Given the description of an element on the screen output the (x, y) to click on. 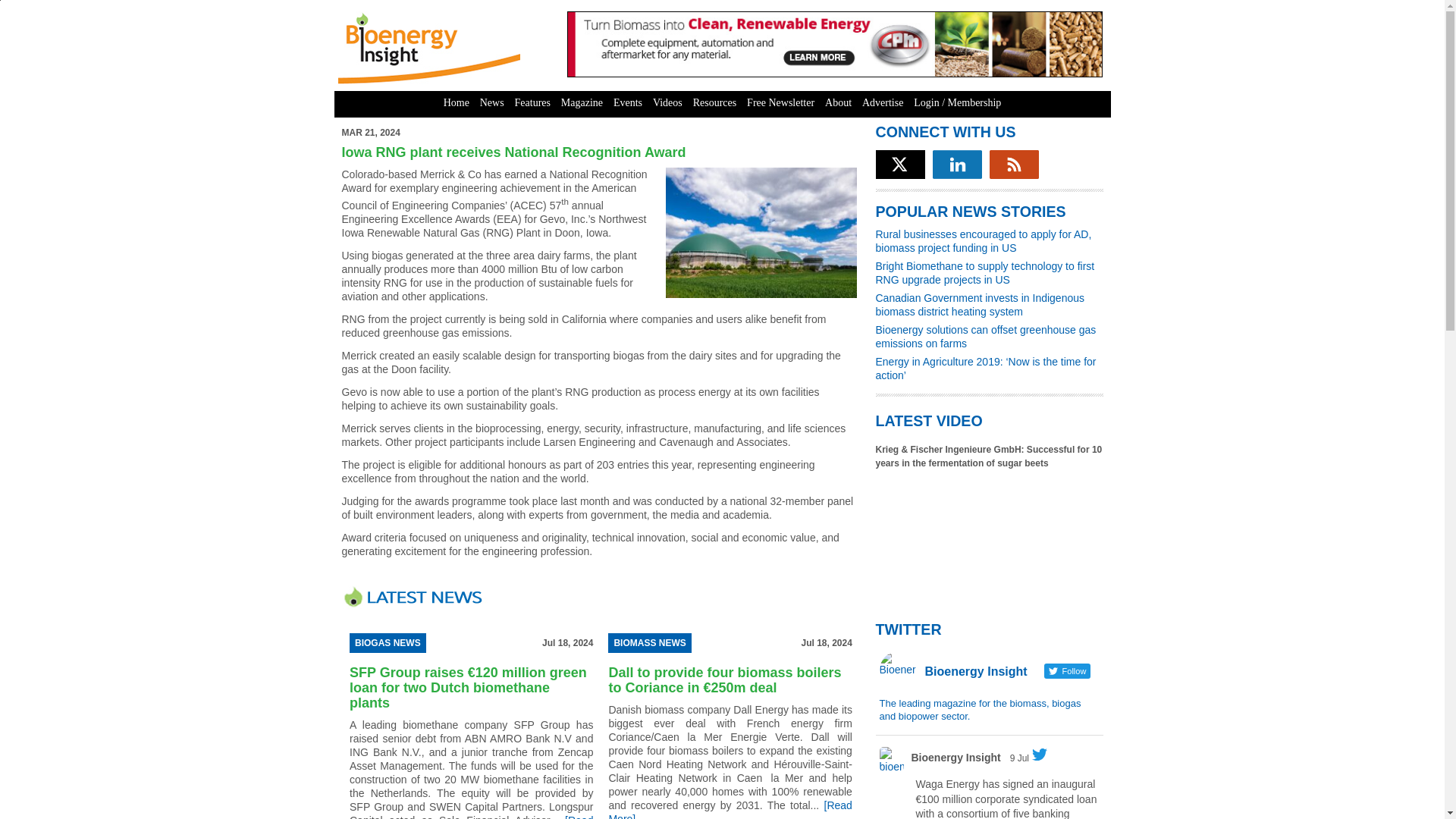
About (838, 102)
Advertise (883, 102)
Events (628, 102)
Magazine (582, 102)
Home (456, 102)
Videos (667, 102)
Free Newsletter (780, 102)
Resources (714, 102)
News (492, 102)
Features (532, 102)
